Given the description of an element on the screen output the (x, y) to click on. 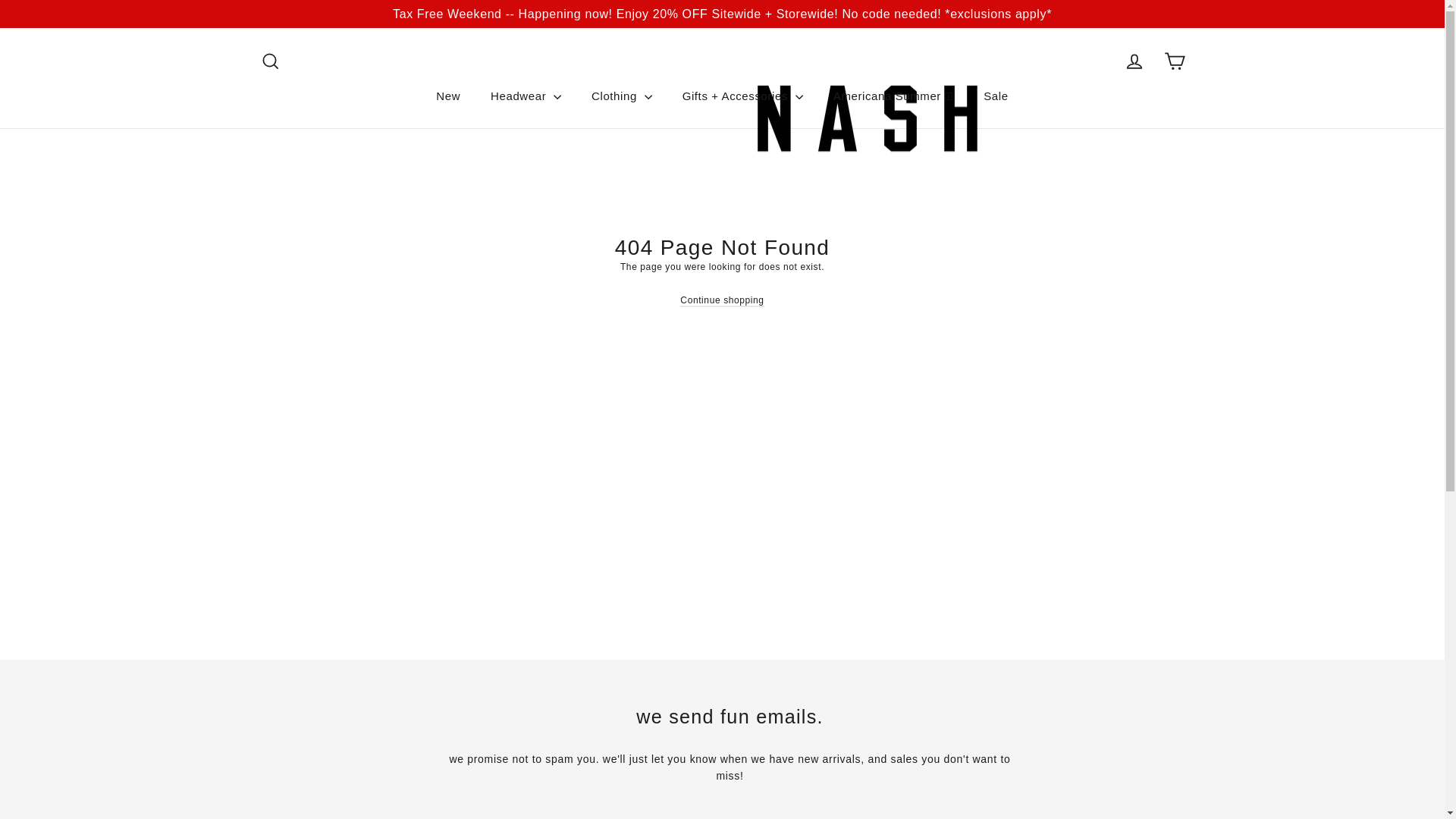
account (1134, 61)
icon-cart (1174, 61)
icon-search (270, 61)
